Given the description of an element on the screen output the (x, y) to click on. 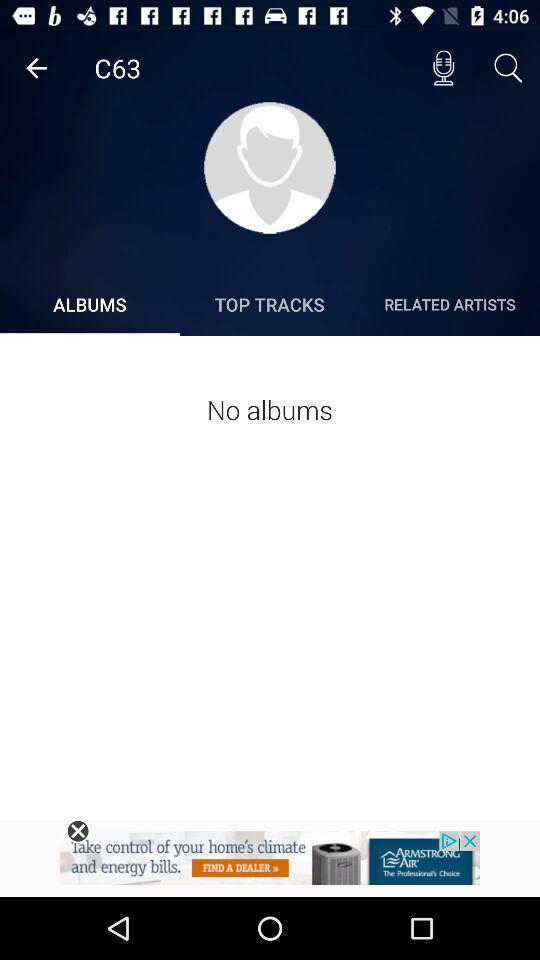
visit armstrong (270, 864)
